Given the description of an element on the screen output the (x, y) to click on. 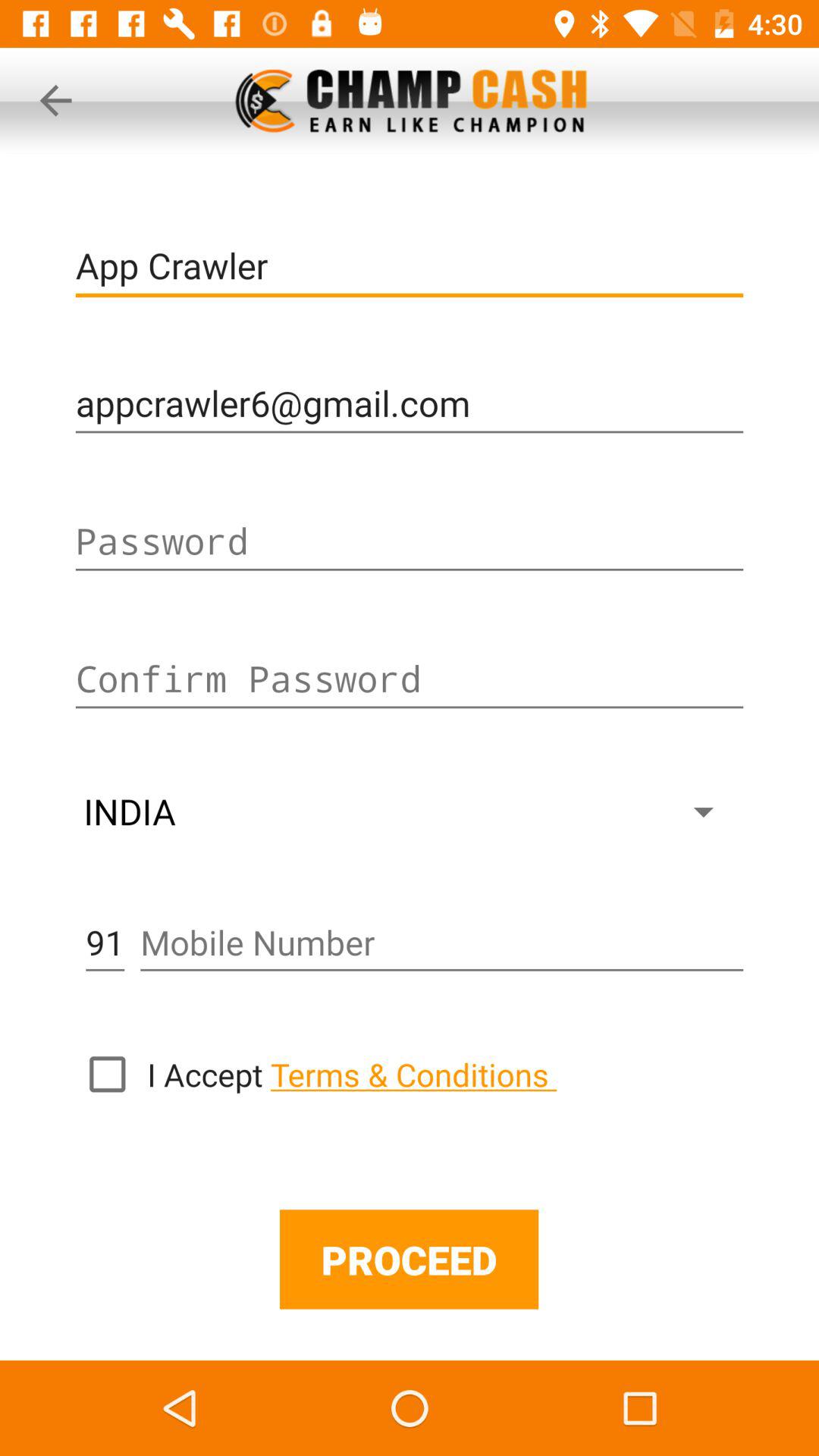
toggle term acceptance (107, 1074)
